Given the description of an element on the screen output the (x, y) to click on. 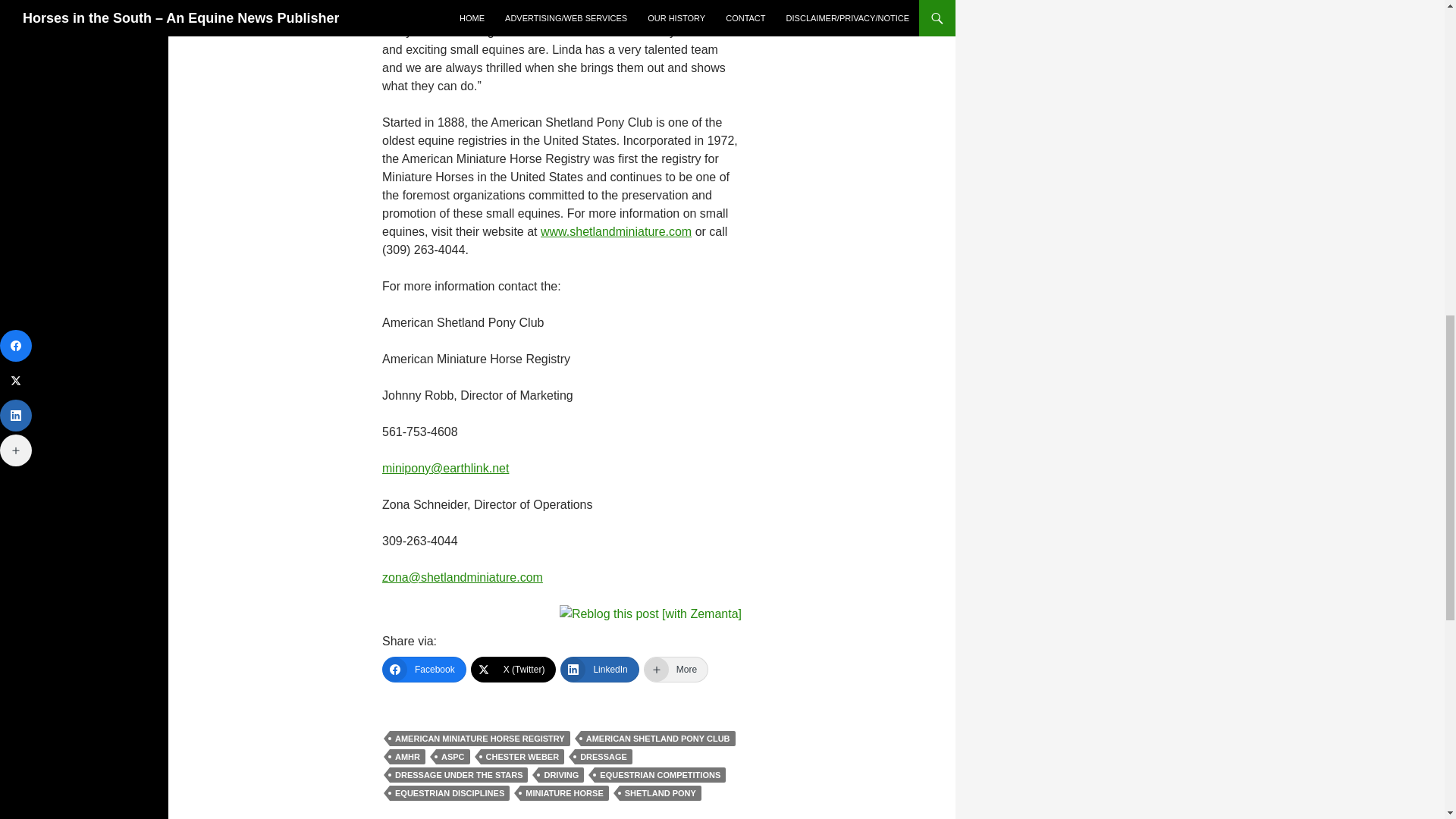
EQUESTRIAN COMPETITIONS (659, 774)
DRESSAGE UNDER THE STARS (458, 774)
CHESTER WEBER (522, 756)
DRIVING (560, 774)
ASPC (452, 756)
LinkedIn (599, 669)
AMHR (407, 756)
AMERICAN MINIATURE HORSE REGISTRY (480, 738)
More (675, 669)
DRESSAGE (603, 756)
www.shetlandminiature.com (615, 231)
EQUESTRIAN DISCIPLINES (449, 792)
Facebook (423, 669)
AMERICAN SHETLAND PONY CLUB (657, 738)
